Given the description of an element on the screen output the (x, y) to click on. 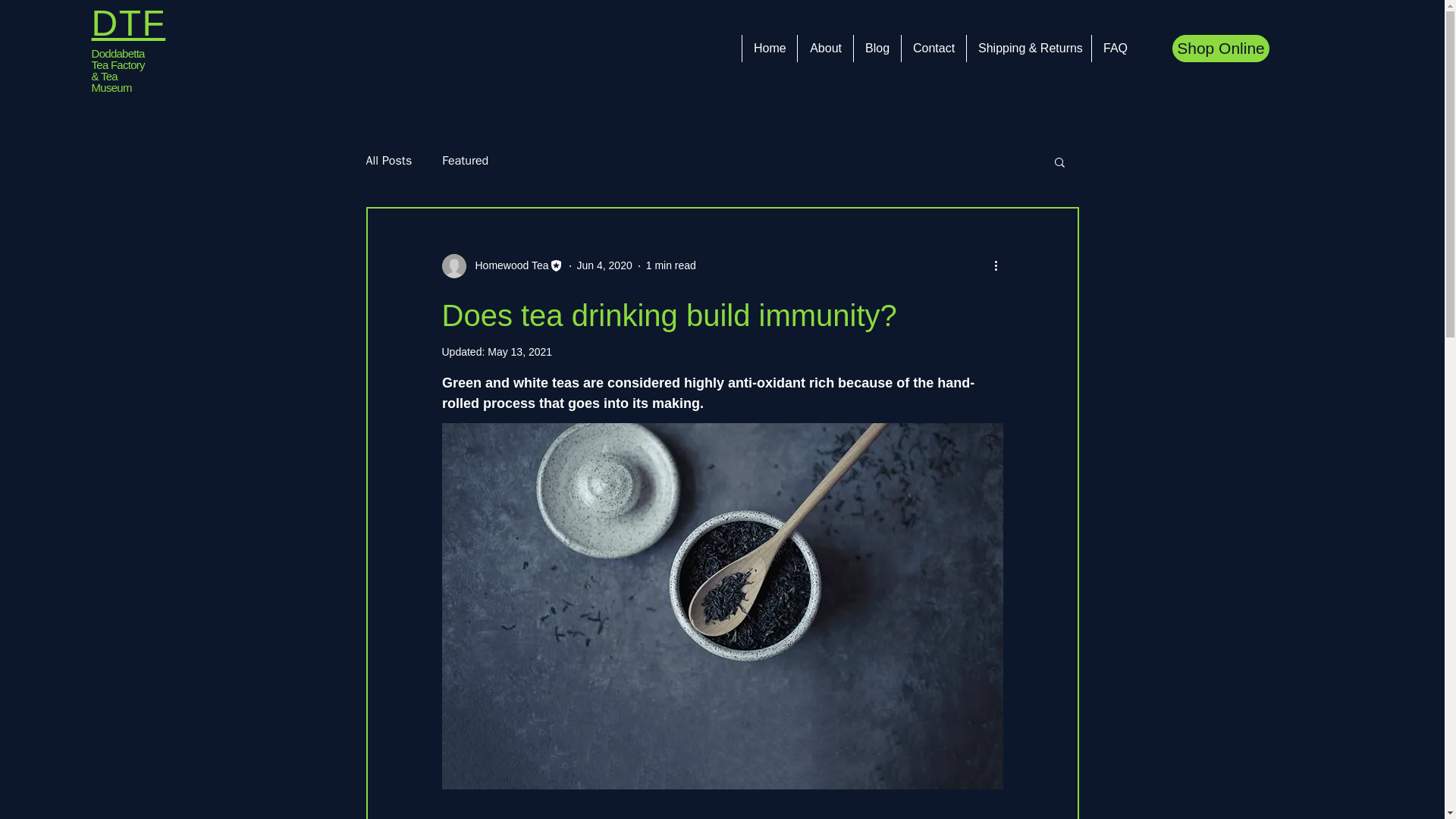
Homewood Tea (501, 265)
FAQ (1114, 48)
May 13, 2021 (519, 351)
All Posts (388, 160)
Shop Online (1220, 48)
Blog (877, 48)
1 min read (670, 265)
About (824, 48)
DTF (128, 23)
Contact (933, 48)
Jun 4, 2020 (603, 265)
Homewood Tea (506, 265)
Home (768, 48)
Featured (464, 160)
